Given the description of an element on the screen output the (x, y) to click on. 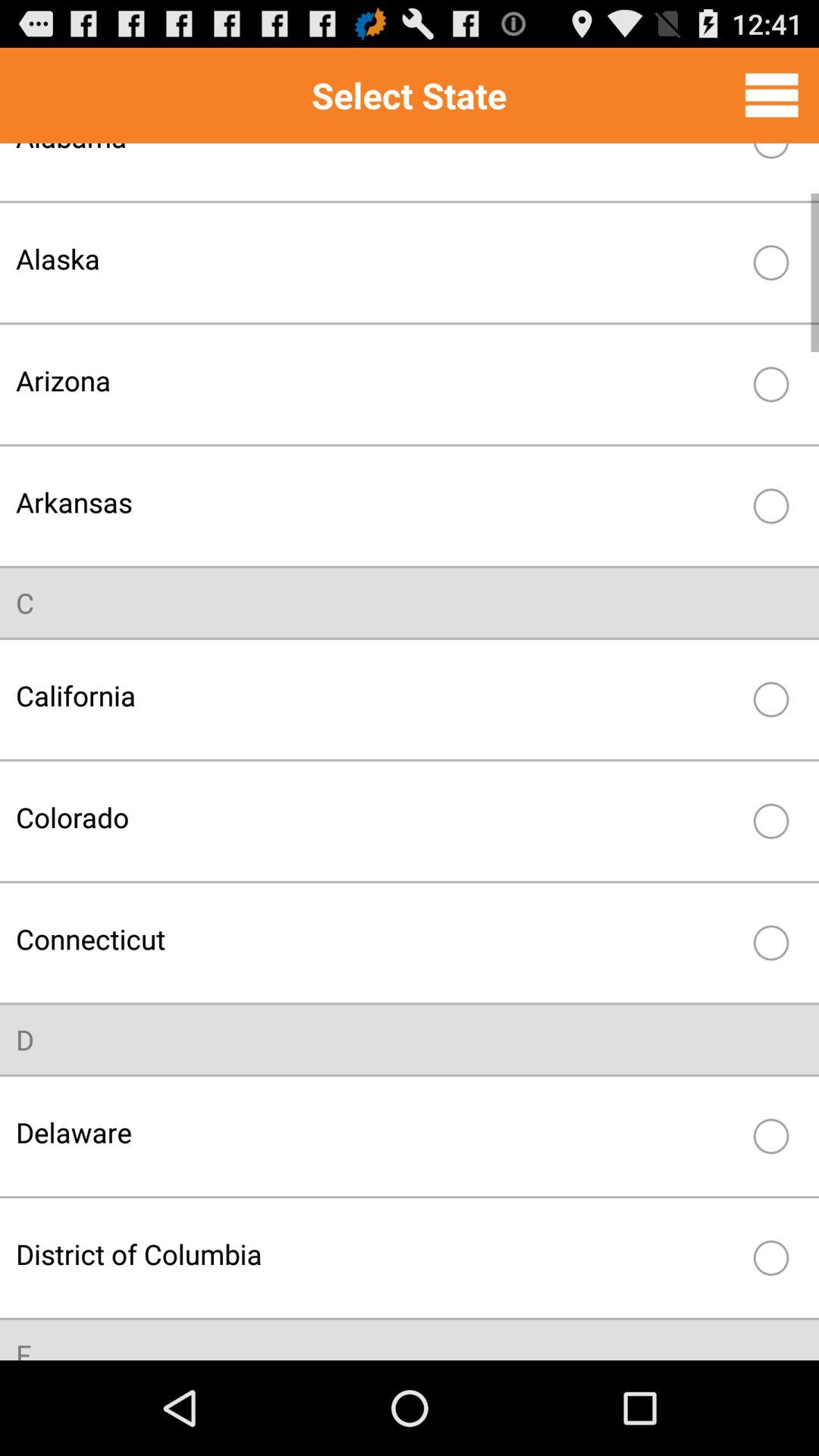
open the icon on the left (24, 602)
